Given the description of an element on the screen output the (x, y) to click on. 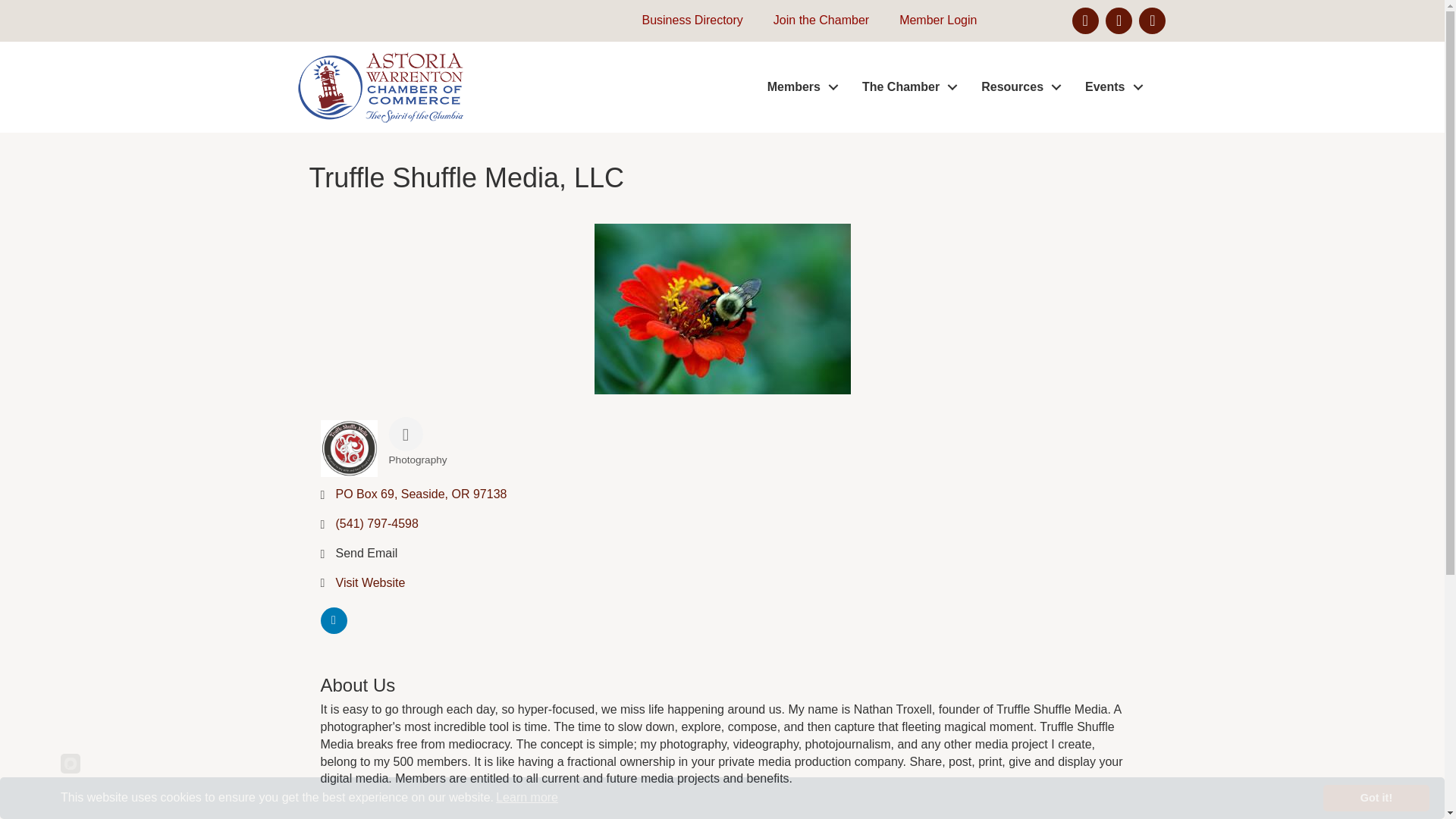
View on LinkedIn (333, 629)
Resources (1017, 87)
Member Login (929, 20)
Truffle Shuffle Media, LLC (722, 308)
Business Directory (684, 20)
astoria-warrenton-chamber-logo-md (379, 87)
The Chamber (906, 87)
Events (1110, 87)
Join the Chamber (813, 20)
Truffle Shuffle Media, LLC (348, 448)
